Given the description of an element on the screen output the (x, y) to click on. 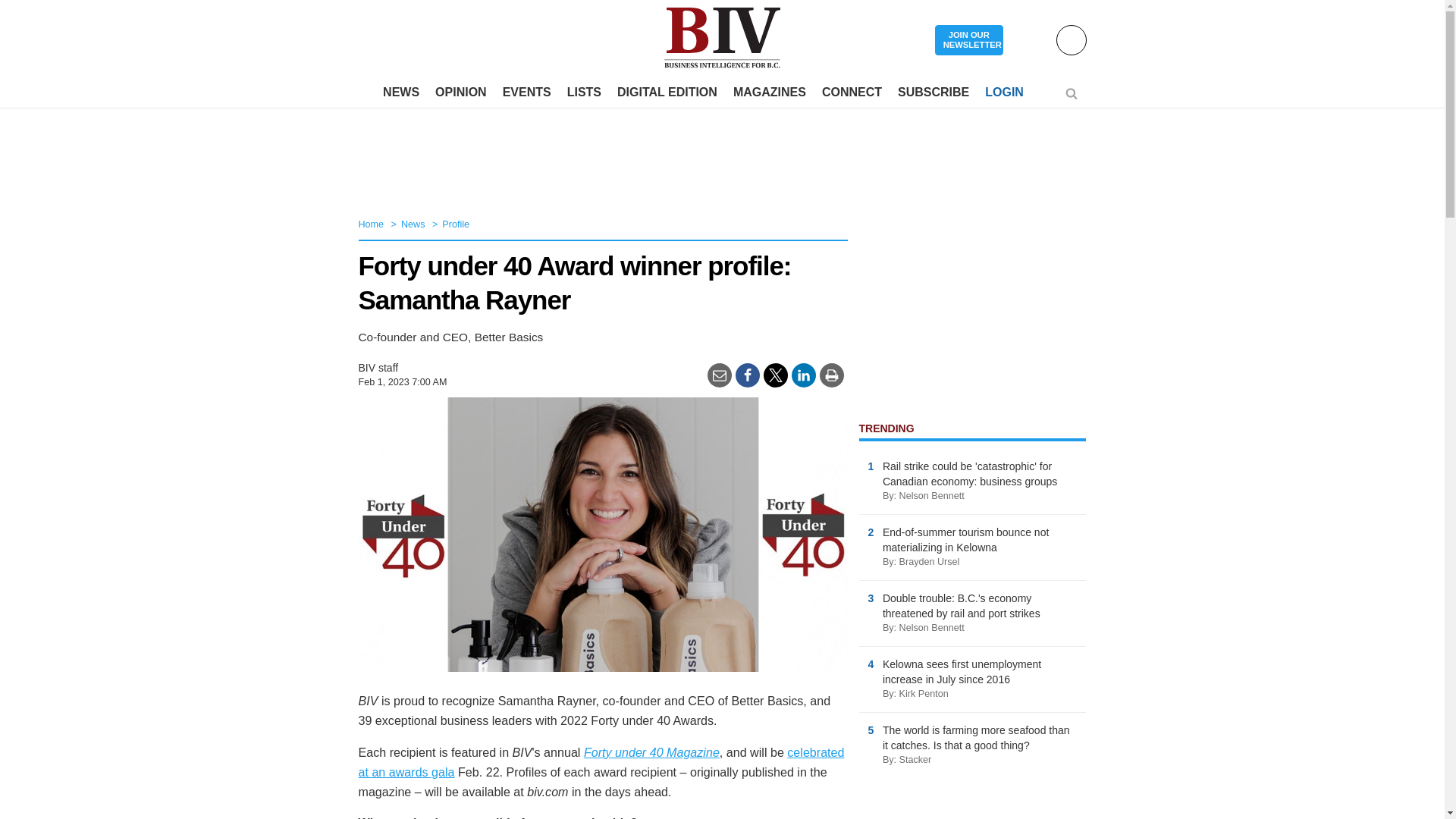
EVENTS (526, 92)
MAGAZINES (769, 92)
JOIN OUR NEWSLETTER (968, 40)
LISTS (583, 92)
LOGIN (1003, 92)
OPINION (461, 92)
NEWS (401, 92)
DIGITAL EDITION (667, 92)
SUBSCRIBE (933, 92)
